Given the description of an element on the screen output the (x, y) to click on. 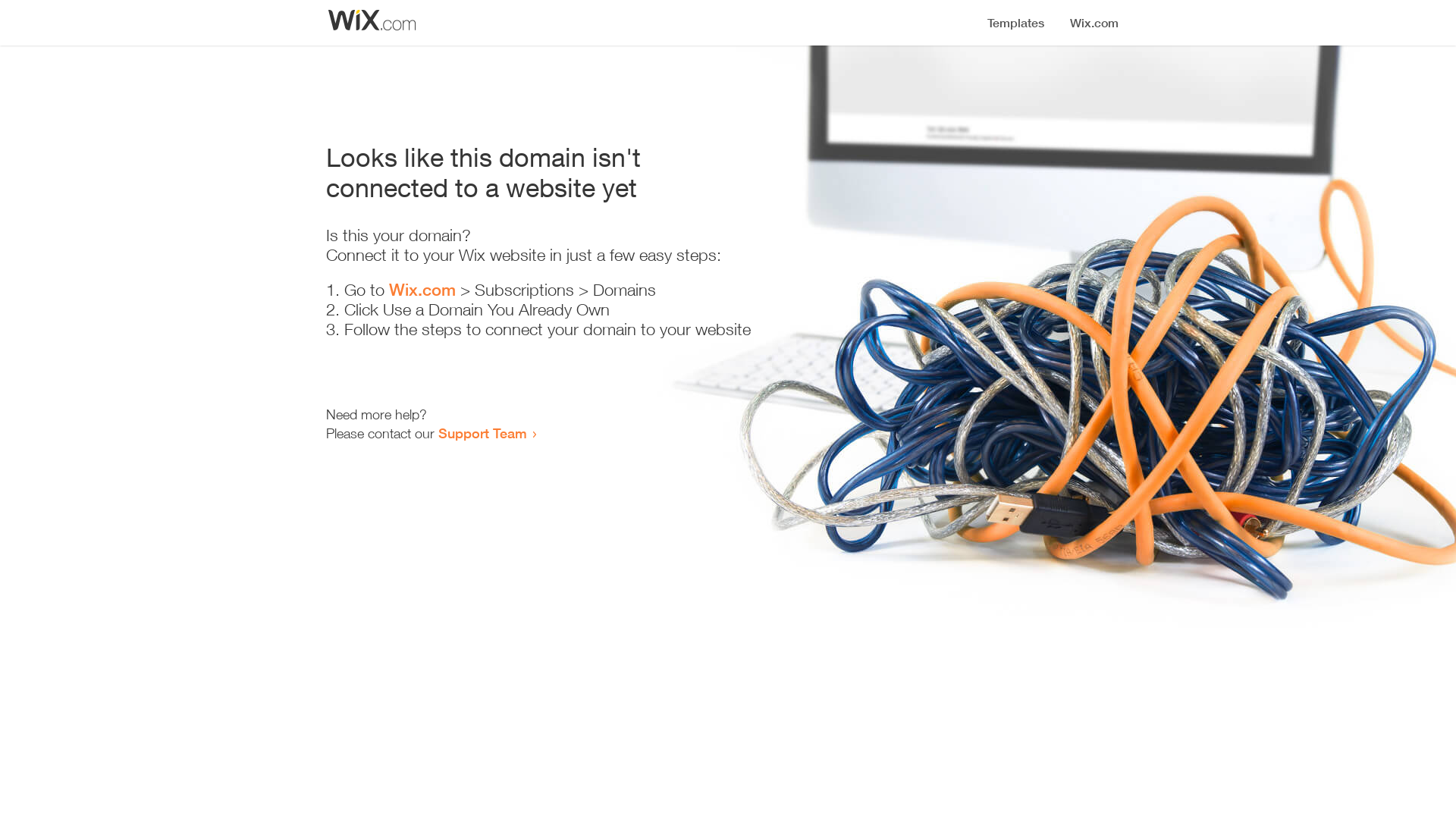
Wix.com Element type: text (422, 289)
Support Team Element type: text (482, 432)
